Given the description of an element on the screen output the (x, y) to click on. 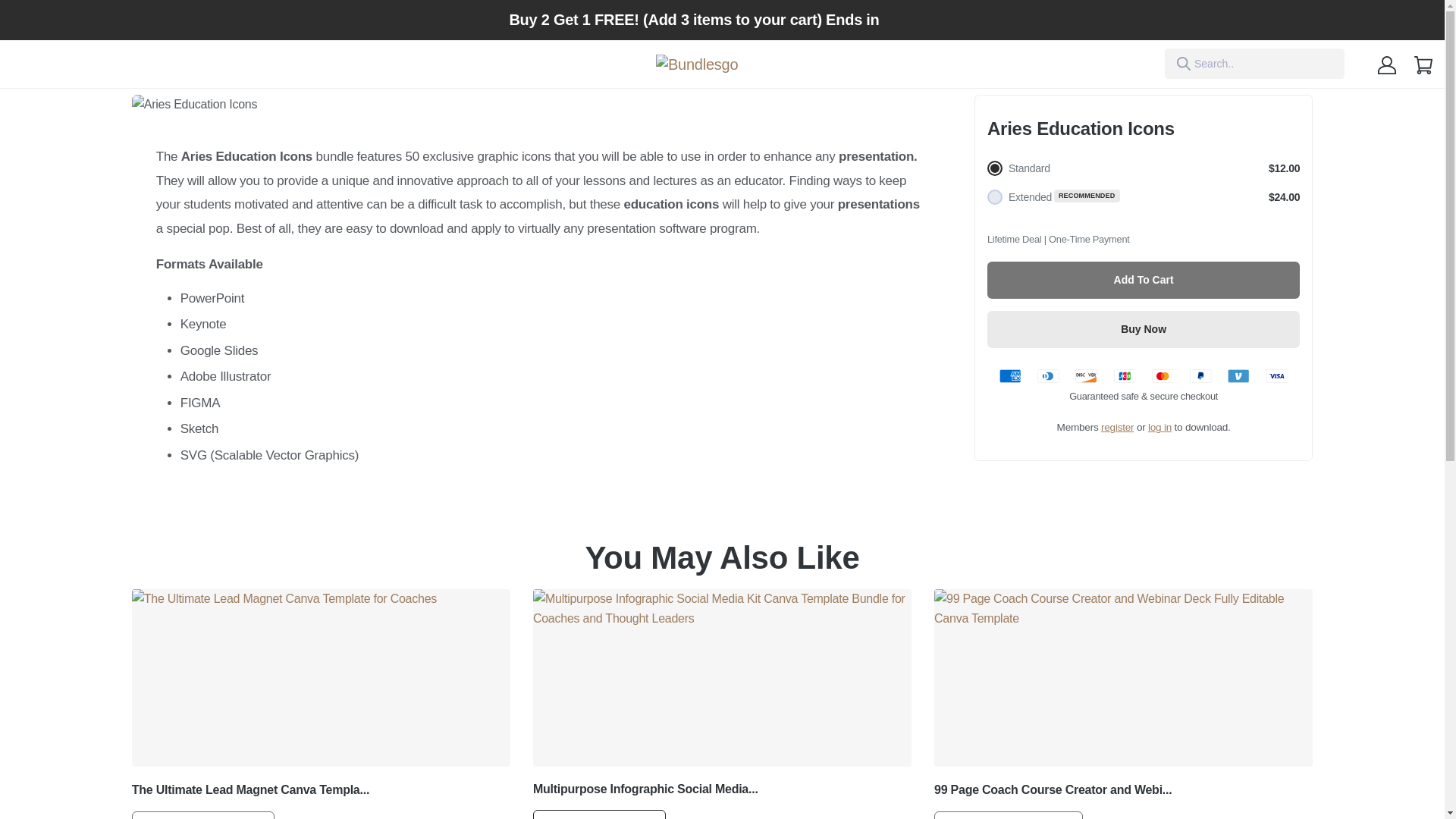
Visa (1277, 376)
JCB (1124, 376)
Discover (1085, 376)
Multipurpose Infographic Social Media... (645, 789)
Diners Club (1047, 376)
Add To Cart (1143, 279)
American Express (1009, 376)
Mastercard (1162, 376)
